Given the description of an element on the screen output the (x, y) to click on. 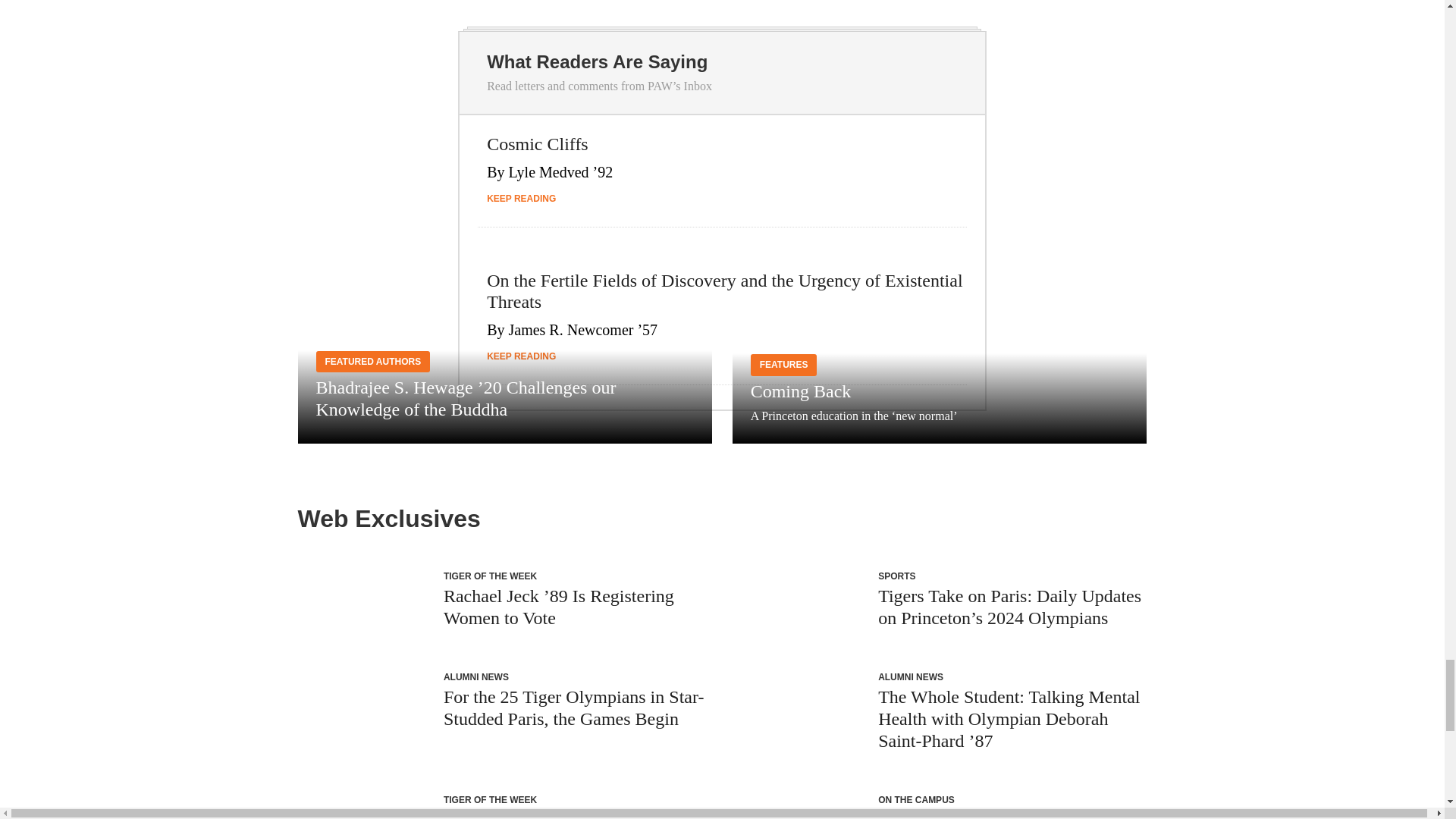
KEEP READING (521, 198)
KEEP READING (521, 356)
Cosmic Cliffs (537, 143)
